Given the description of an element on the screen output the (x, y) to click on. 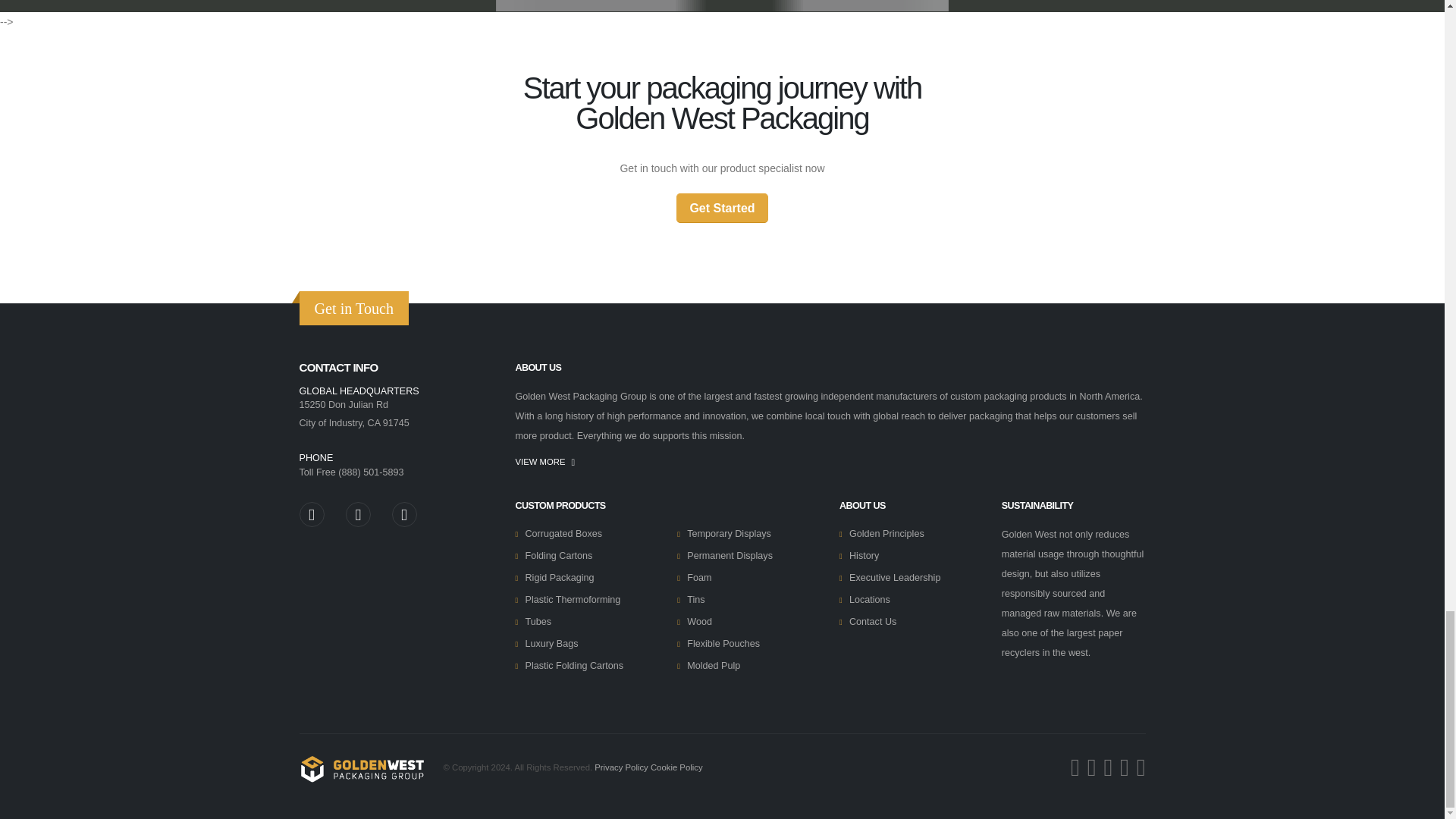
LinkedIn (358, 514)
Instagram (310, 514)
Facebook (403, 514)
Folding Cartons (558, 555)
Rigid Packaging (559, 577)
Corrugated Boxes (563, 533)
Plastic Thermoforming (572, 599)
